Given the description of an element on the screen output the (x, y) to click on. 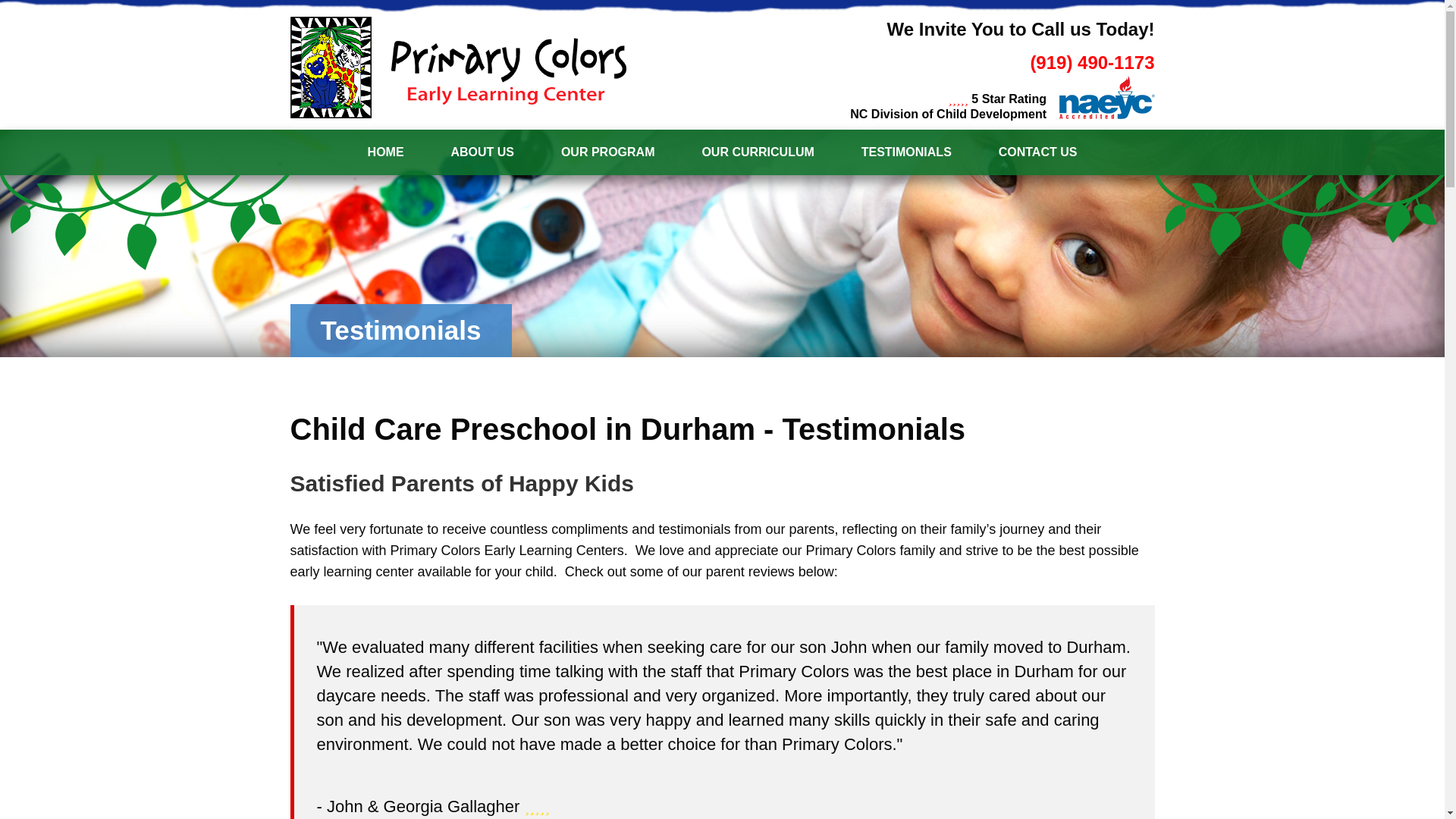
HOME (386, 152)
ABOUT US (481, 152)
OUR CURRICULUM (757, 152)
CONTACT US (1037, 152)
OUR PROGRAM (607, 152)
TESTIMONIALS (907, 152)
